Given the description of an element on the screen output the (x, y) to click on. 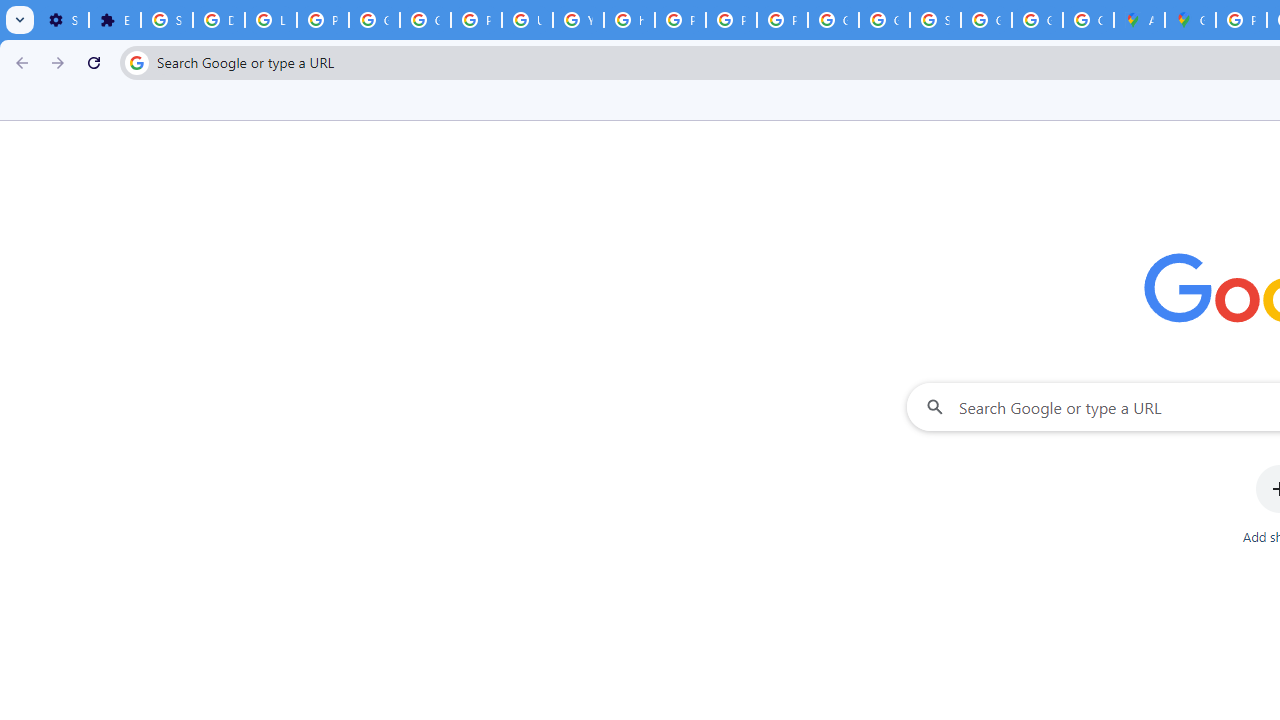
Privacy Help Center - Policies Help (680, 20)
Settings - On startup (63, 20)
Google Maps (1189, 20)
Sign in - Google Accounts (935, 20)
YouTube (578, 20)
Sign in - Google Accounts (166, 20)
